Given the description of an element on the screen output the (x, y) to click on. 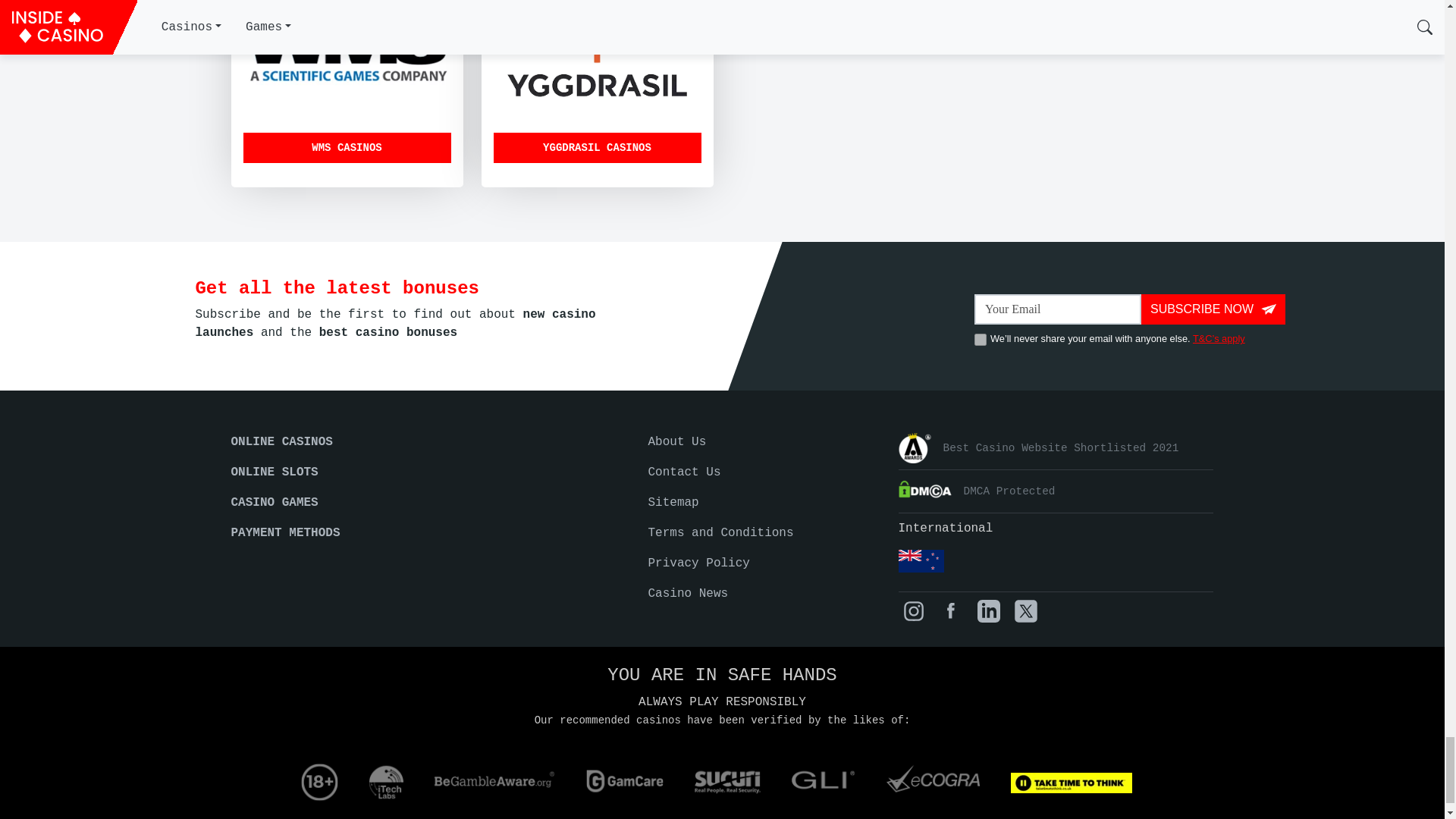
Subscribe Now (1213, 309)
yes (980, 339)
